Given the description of an element on the screen output the (x, y) to click on. 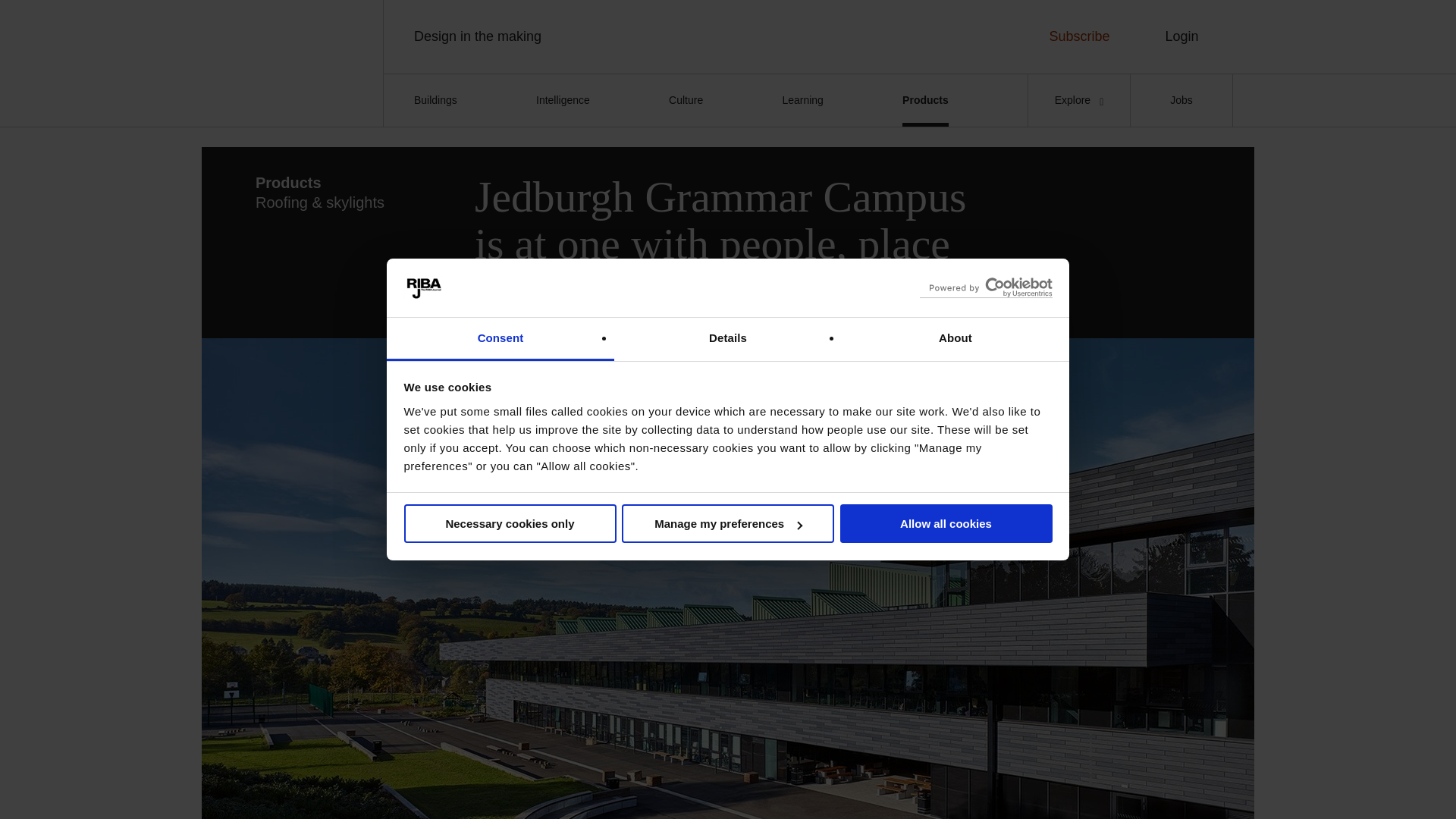
About (954, 339)
Details (727, 339)
Consent (500, 339)
